Given the description of an element on the screen output the (x, y) to click on. 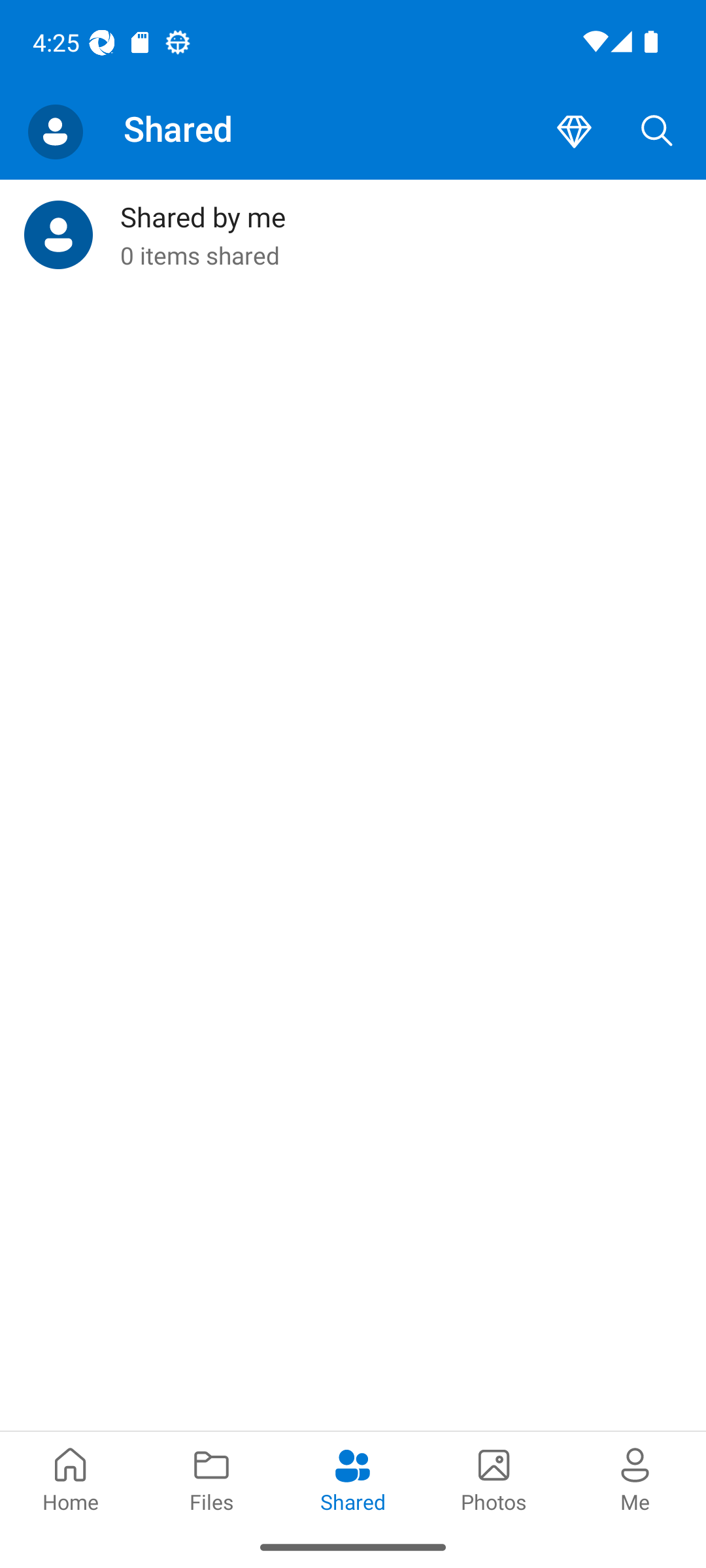
Account switcher (55, 131)
Premium button (574, 131)
Search button (656, 131)
0 Shared by me 0 items shared (353, 235)
Home pivot Home (70, 1478)
Files pivot Files (211, 1478)
Photos pivot Photos (493, 1478)
Me pivot Me (635, 1478)
